Given the description of an element on the screen output the (x, y) to click on. 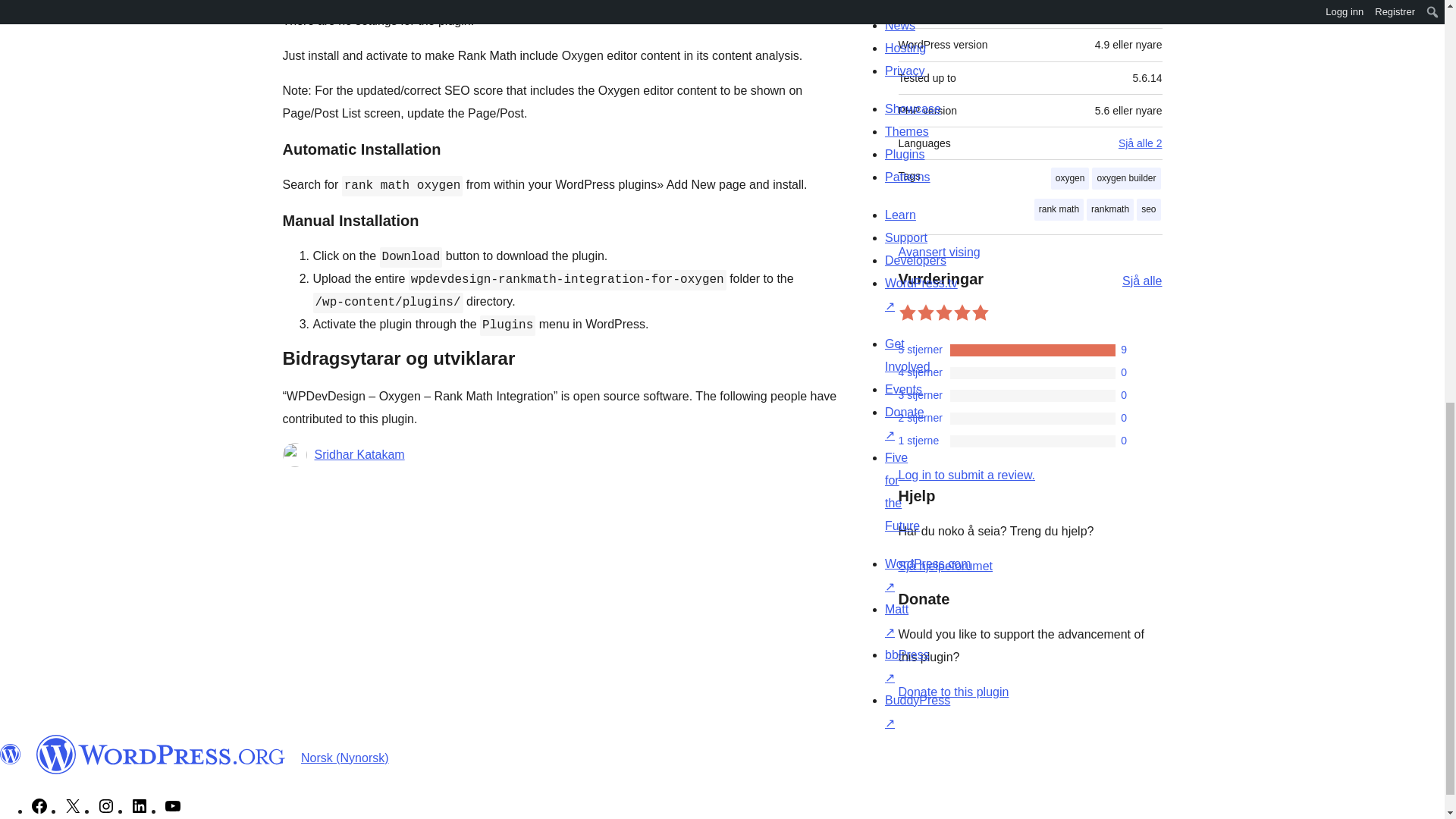
WordPress.org (10, 753)
Log in to WordPress.org (966, 474)
WordPress.org (160, 753)
